Given the description of an element on the screen output the (x, y) to click on. 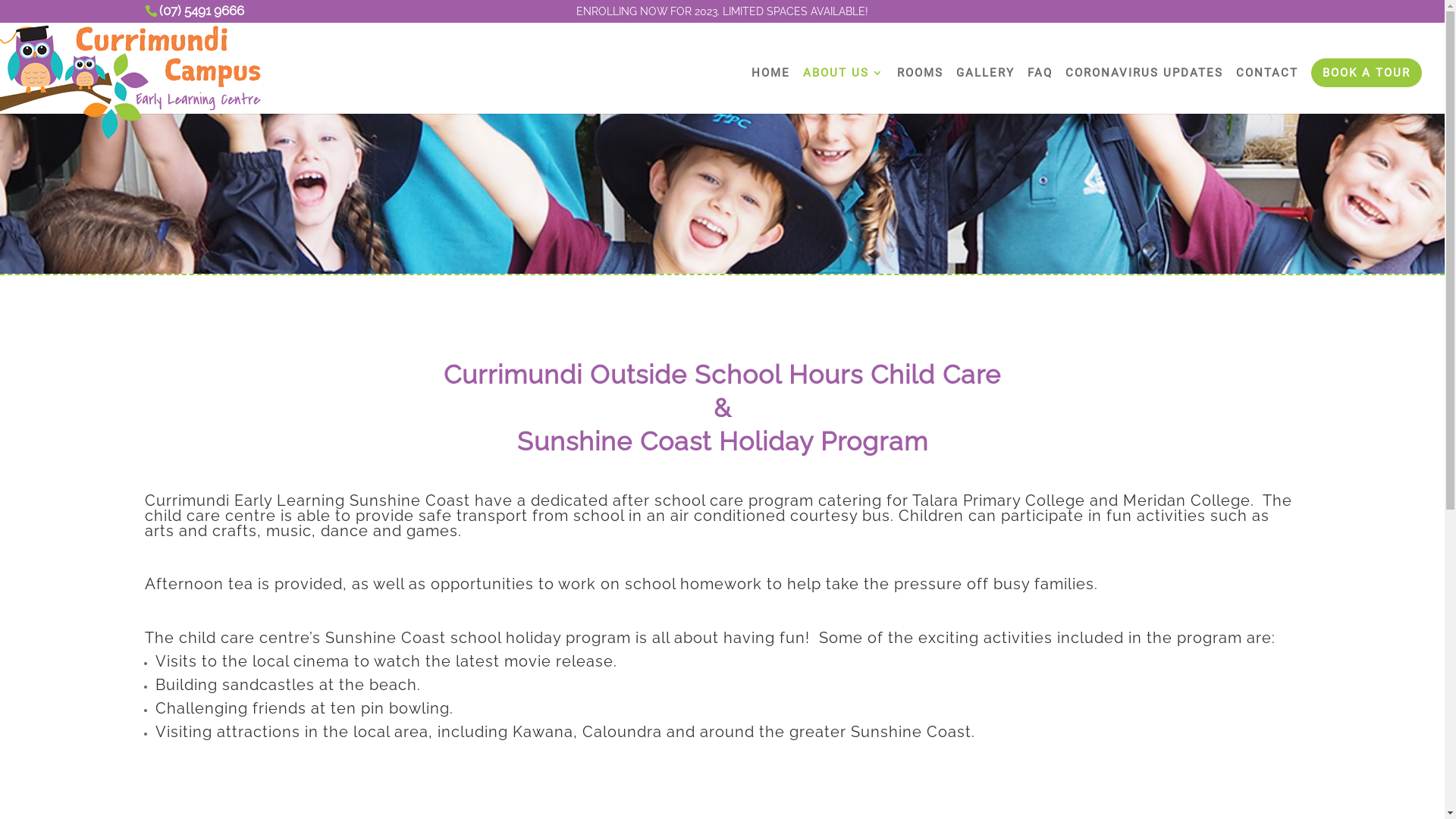
HOME Element type: text (770, 89)
(07) 5491 9666 Element type: text (201, 10)
ABOUT US Element type: text (843, 89)
CORONAVIRUS UPDATES Element type: text (1144, 89)
CONTACT Element type: text (1267, 89)
& Element type: text (721, 407)
BOOK A TOUR Element type: text (1366, 72)
FAQ Element type: text (1039, 89)
GALLERY Element type: text (985, 89)
ROOMS Element type: text (920, 89)
